Given the description of an element on the screen output the (x, y) to click on. 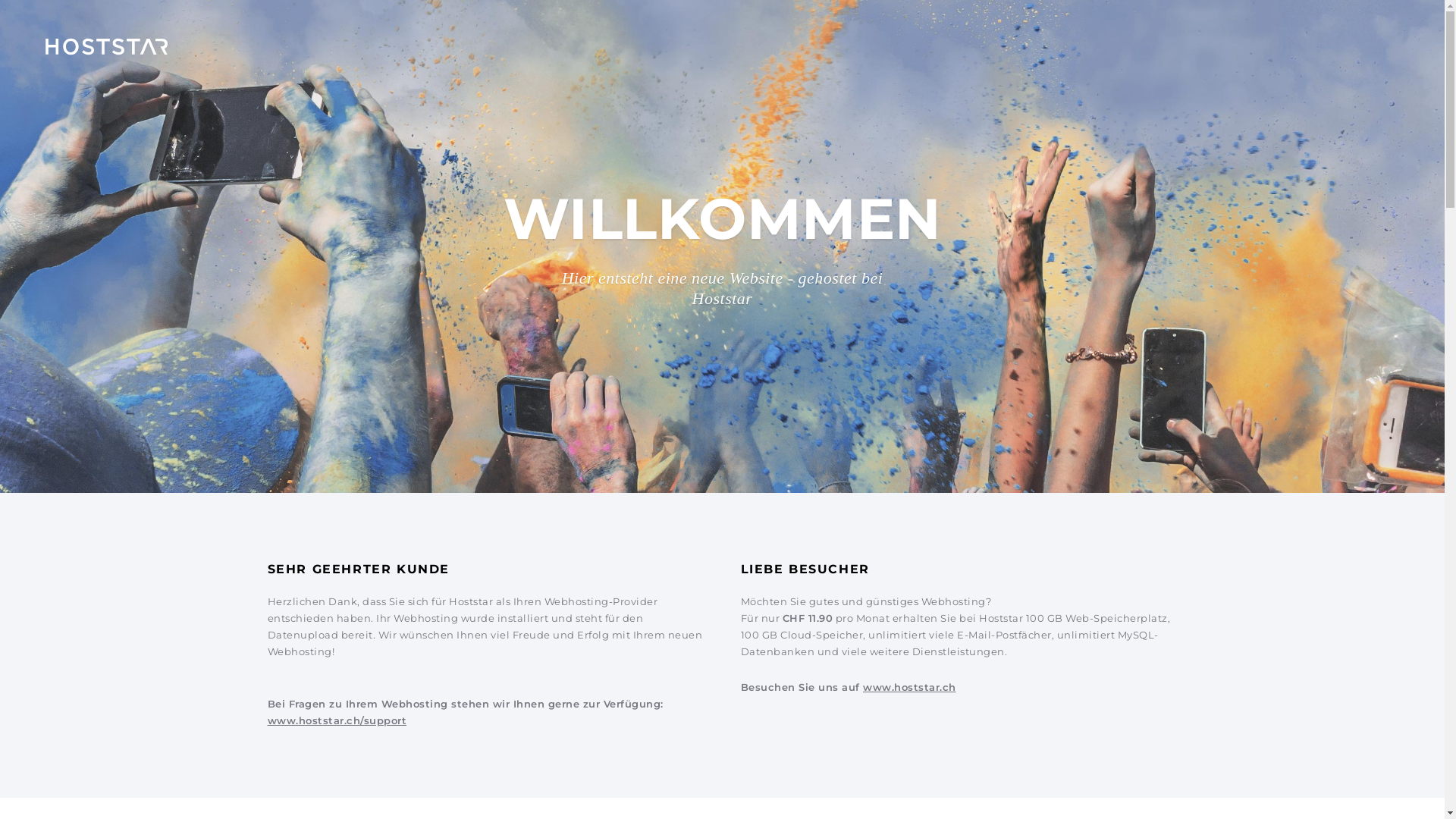
www.hoststar.ch Element type: text (909, 686)
www.hoststar.ch/support Element type: text (336, 720)
